Given the description of an element on the screen output the (x, y) to click on. 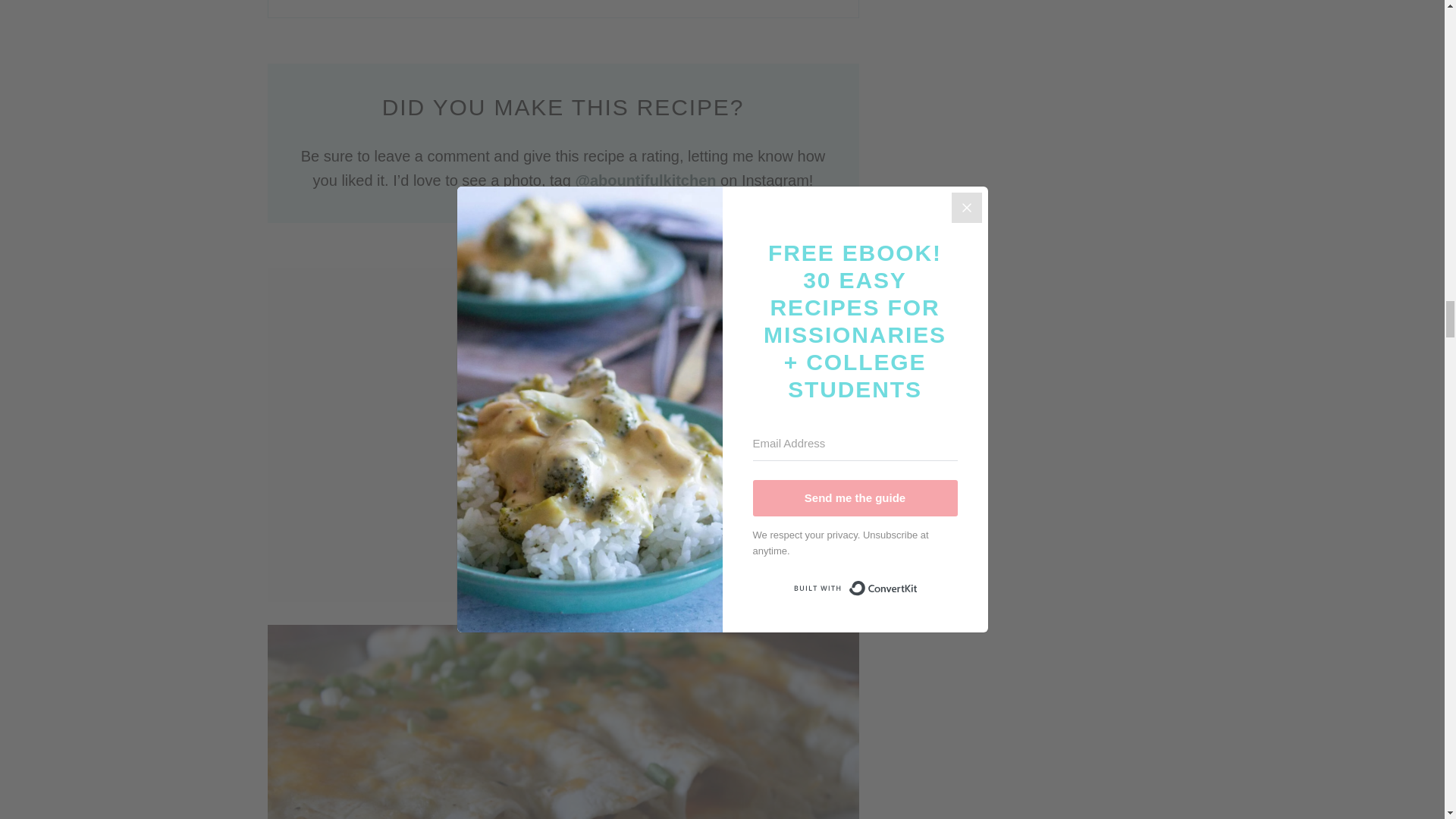
Family Favorite Chicken Enchiladas (562, 721)
